Given the description of an element on the screen output the (x, y) to click on. 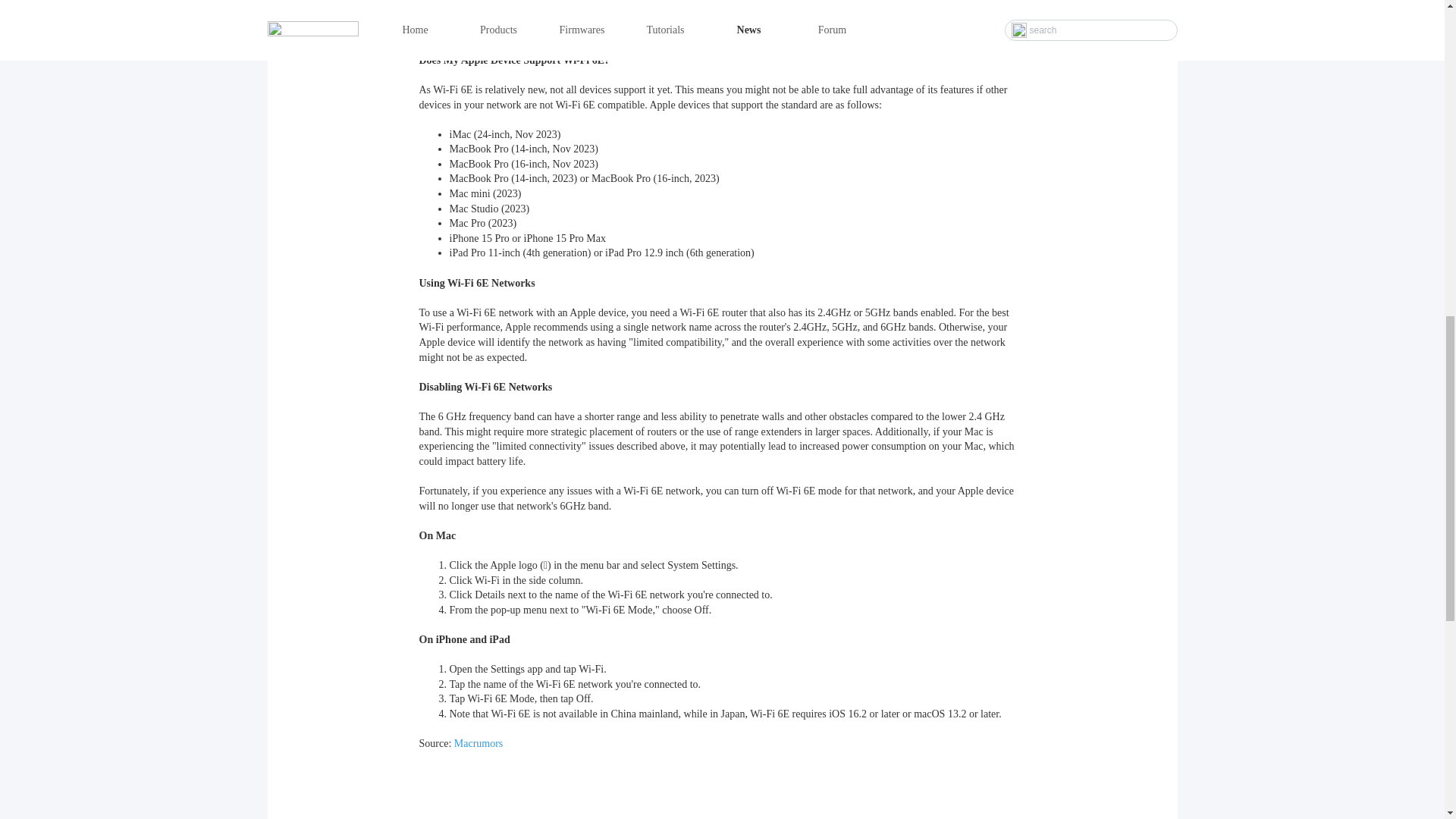
Macrumors (478, 743)
